Given the description of an element on the screen output the (x, y) to click on. 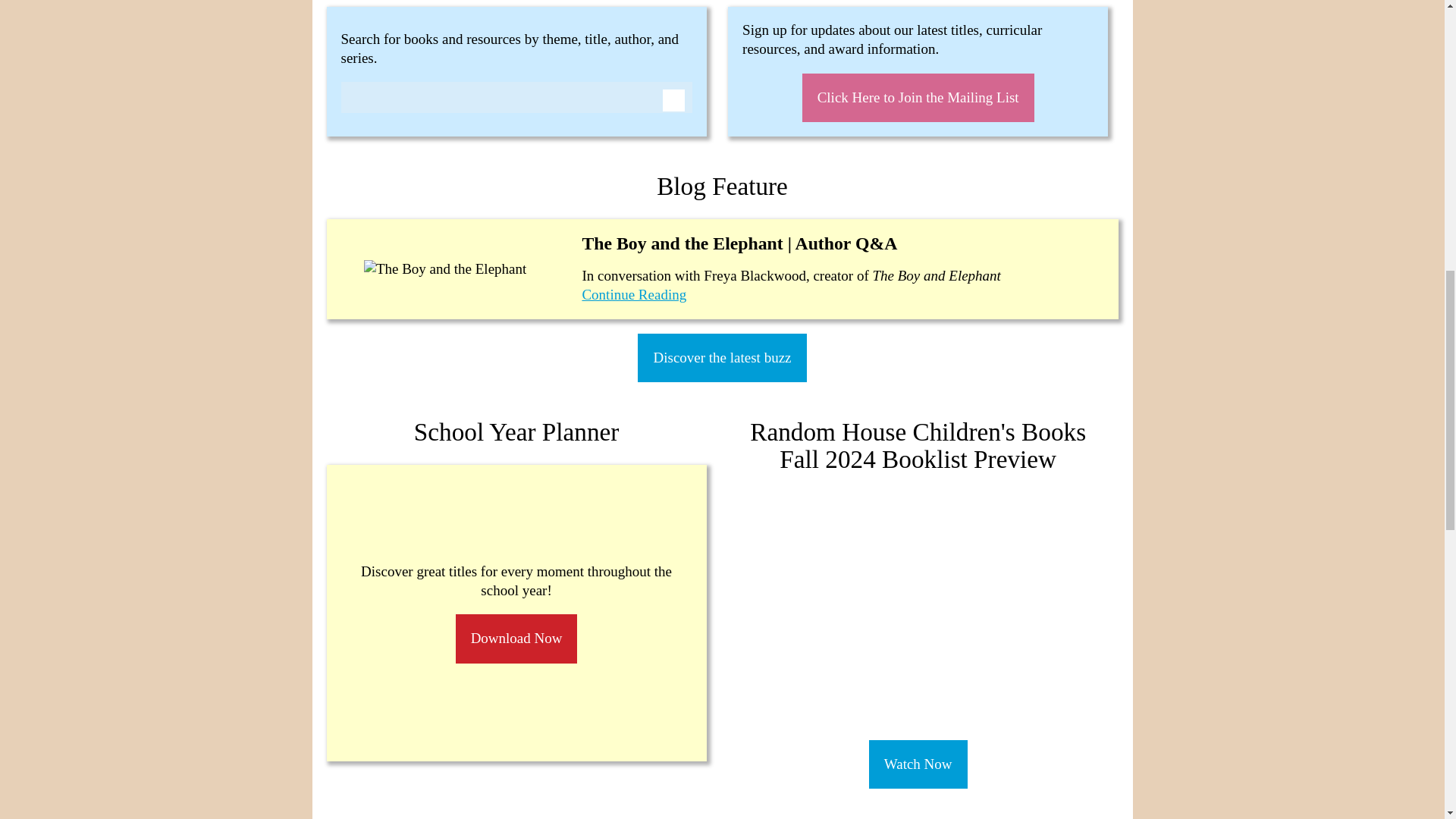
Continue Reading (632, 294)
Random House Children's Books Fall 2024 Preview (918, 609)
Watch Now (918, 764)
Click Here to Join the Mailing List (917, 97)
Discover the latest buzz (721, 358)
Download Now (516, 638)
